Given the description of an element on the screen output the (x, y) to click on. 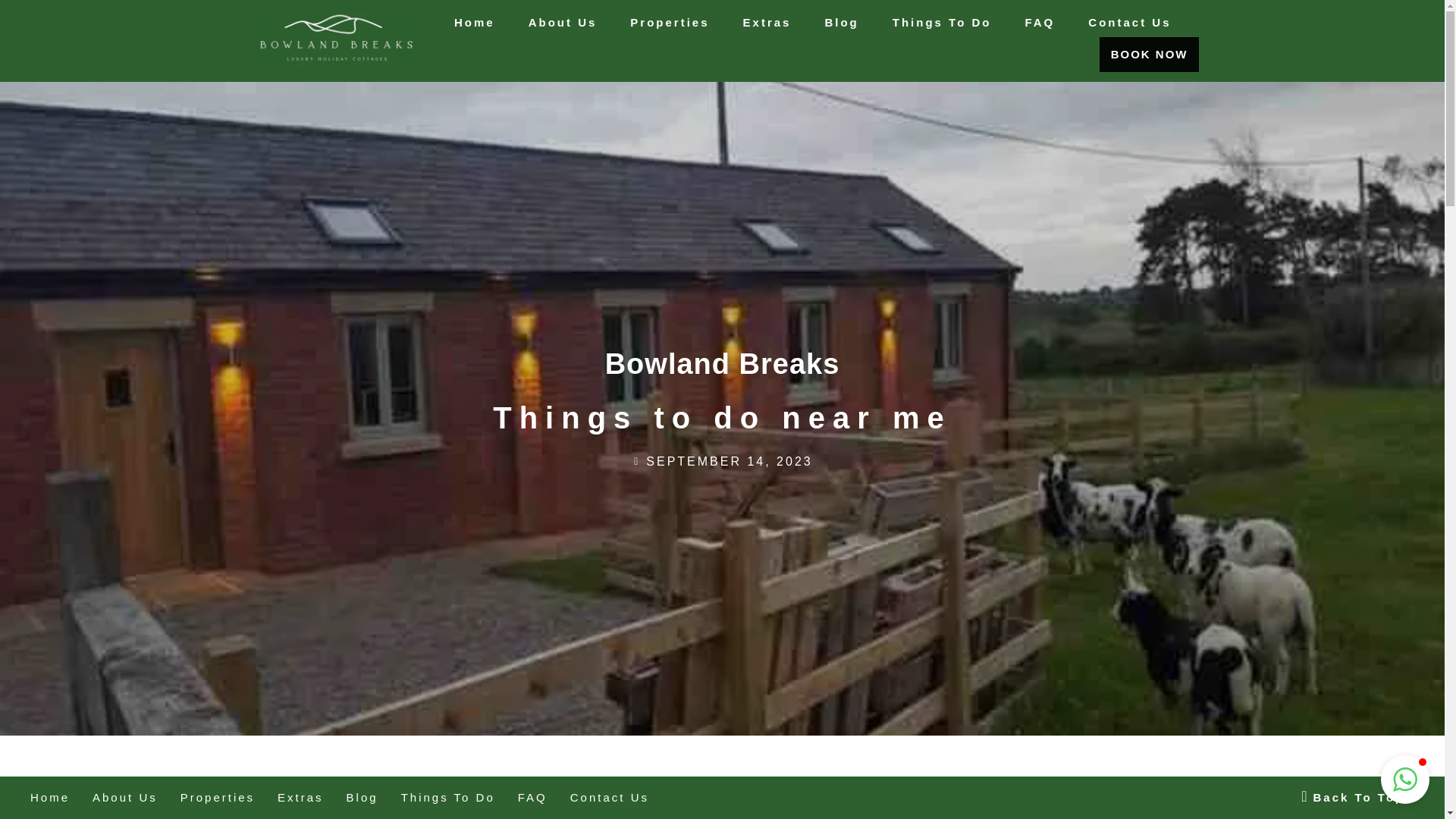
About Us (562, 22)
Things To Do (941, 22)
Extras (767, 22)
Properties (669, 22)
BOOK NOW (1149, 54)
Things to do near me 1 (361, 807)
Home (474, 22)
Contact Us (1129, 22)
FAQ (1039, 22)
Blog (840, 22)
